Given the description of an element on the screen output the (x, y) to click on. 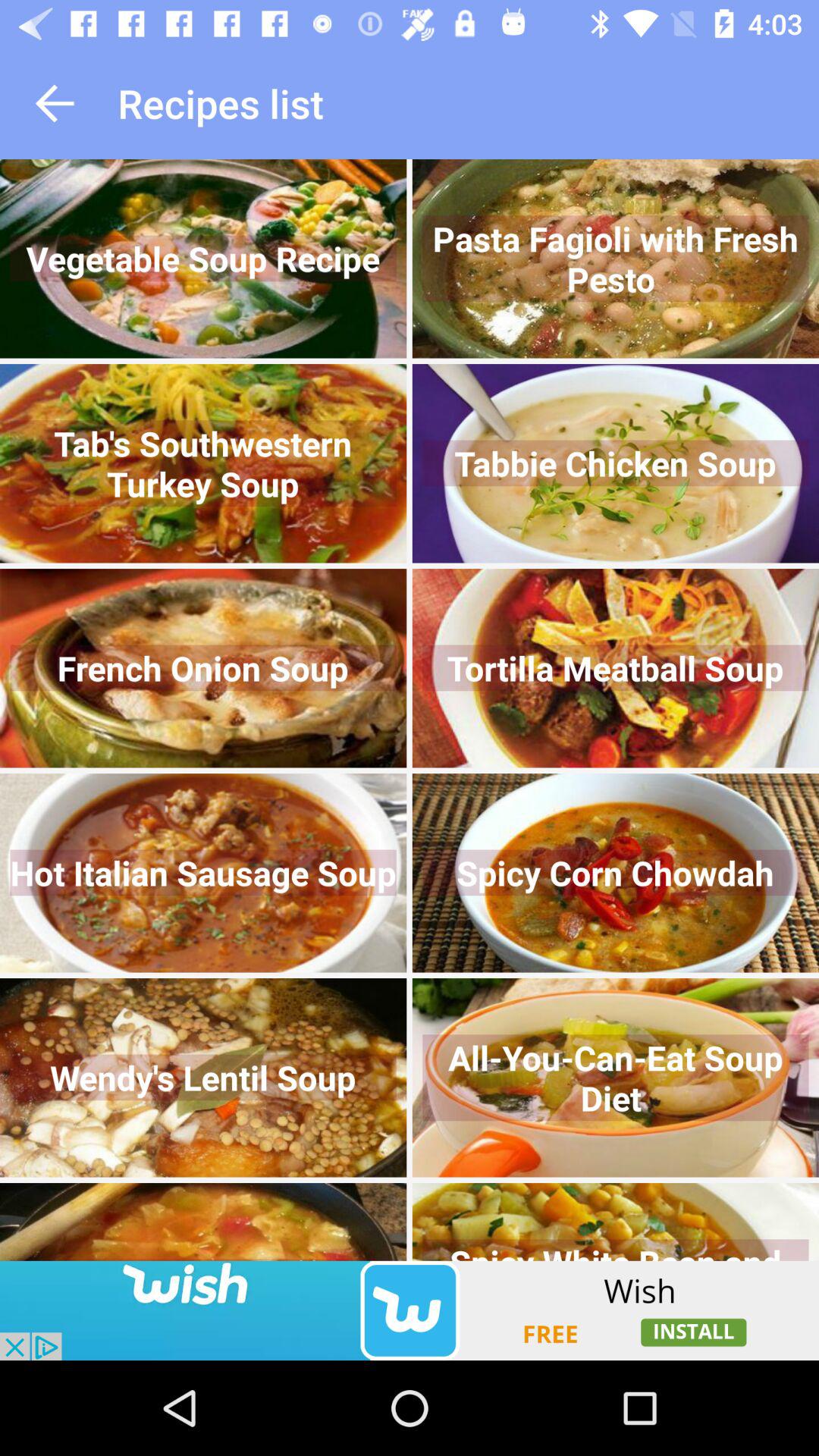
click discriiption (409, 1310)
